Given the description of an element on the screen output the (x, y) to click on. 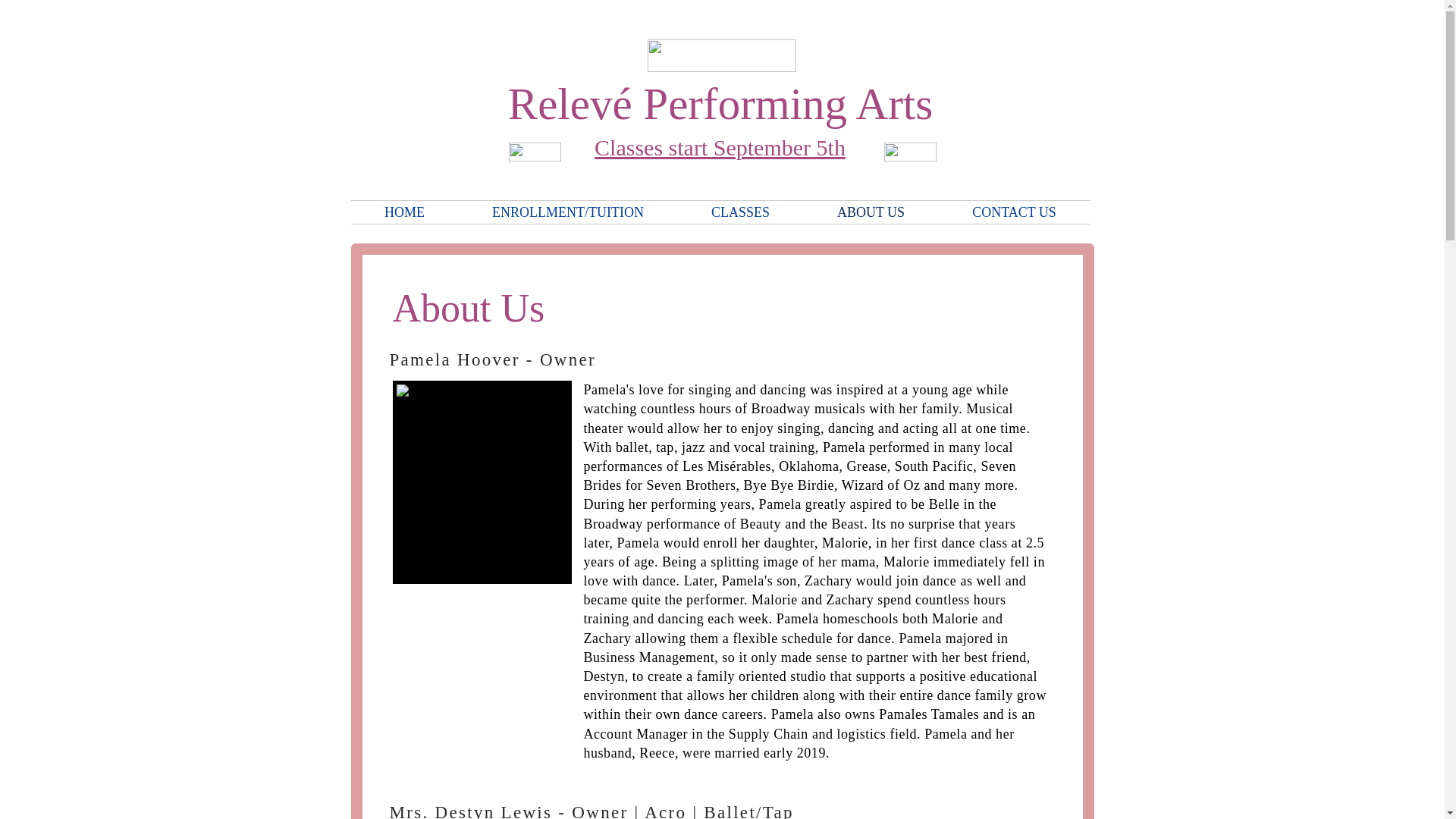
ABOUT US (871, 211)
CLASSES (740, 211)
HOME (404, 211)
CONTACT US (1014, 211)
Classes start September 5th (719, 147)
